Given the description of an element on the screen output the (x, y) to click on. 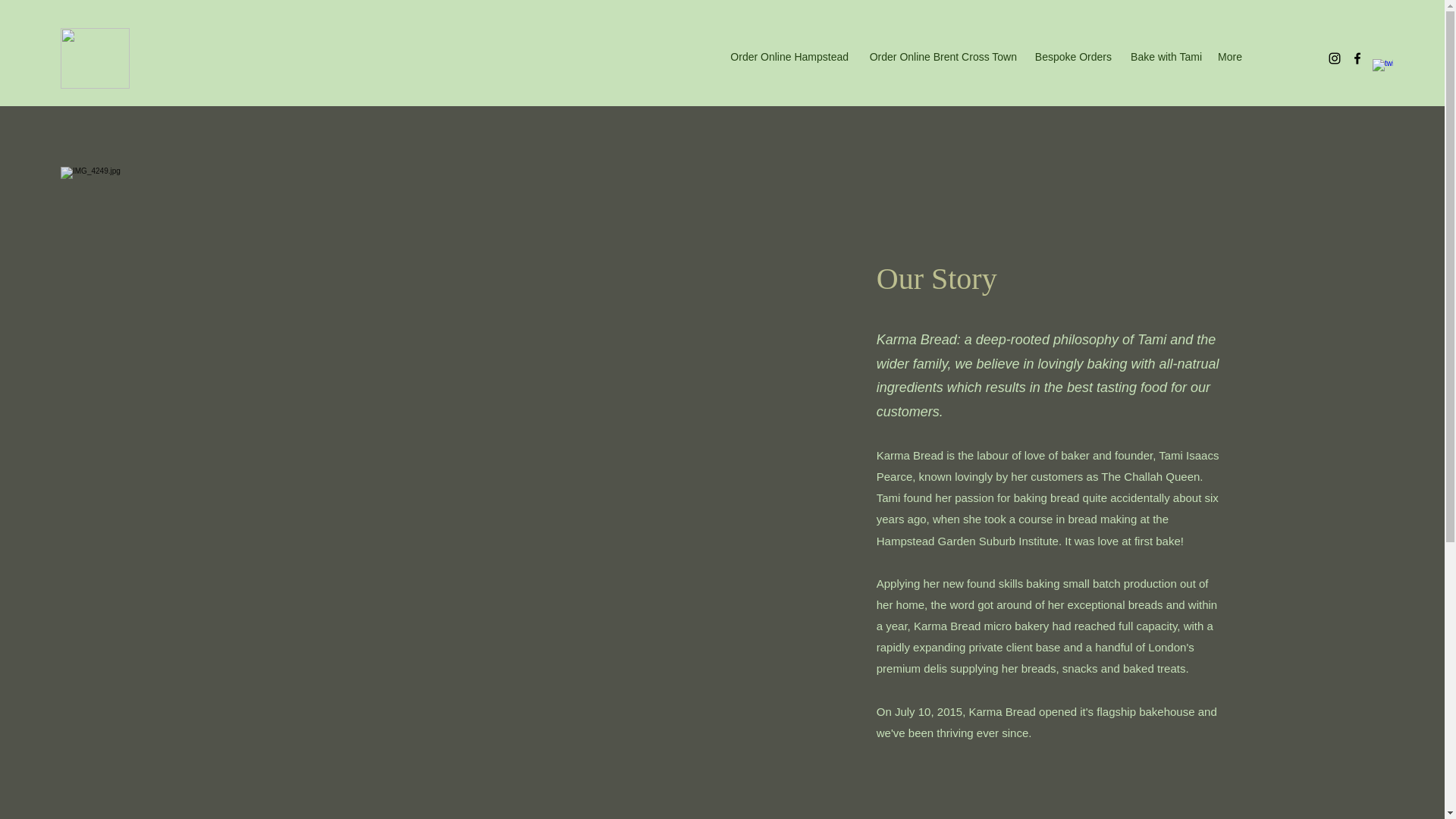
Bake with Tami (1164, 56)
Order Online Hampstead (786, 56)
Order Online Brent Cross Town (940, 56)
Bespoke Orders (1072, 56)
